Given the description of an element on the screen output the (x, y) to click on. 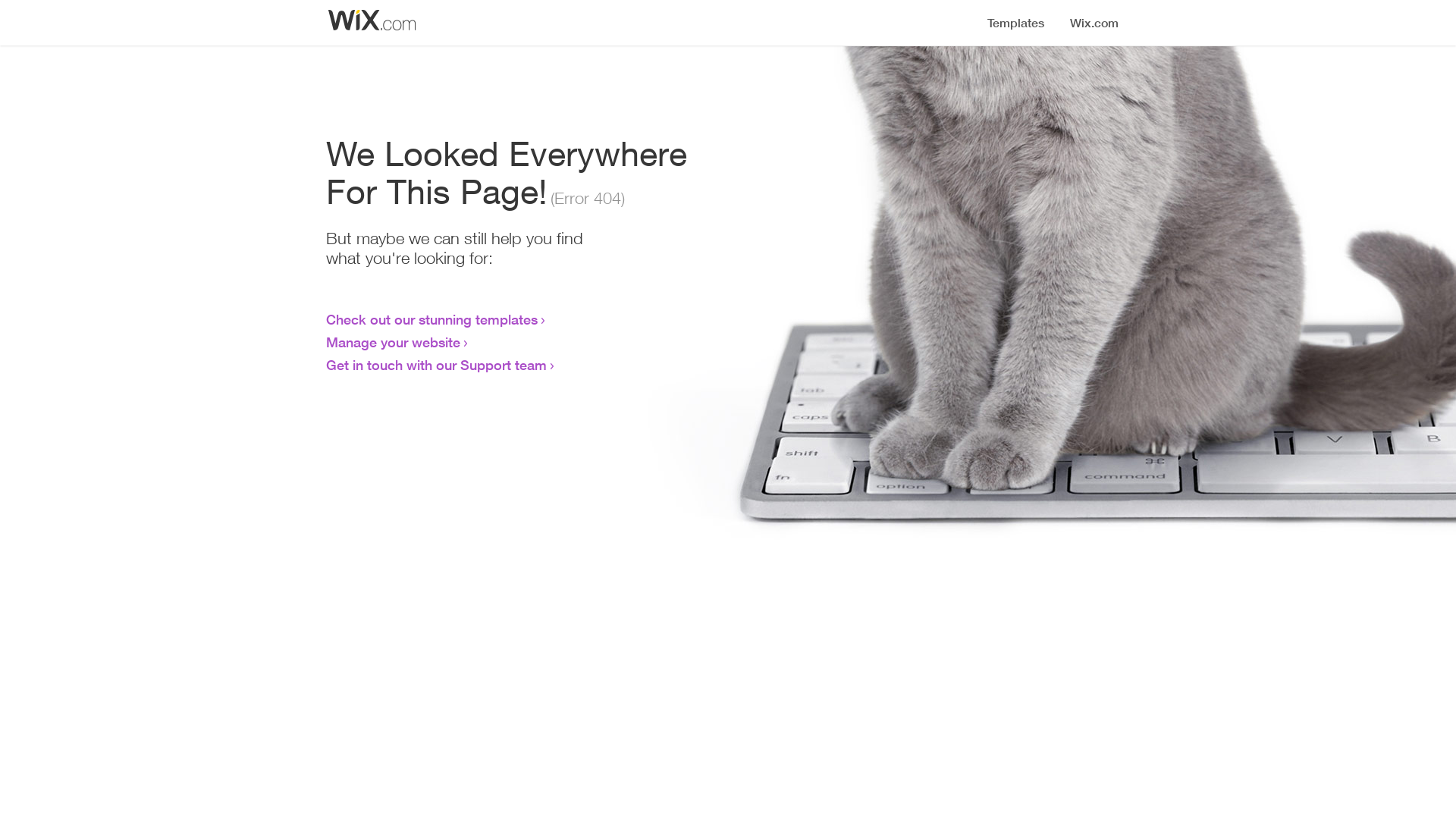
Manage your website Element type: text (393, 341)
Get in touch with our Support team Element type: text (436, 364)
Check out our stunning templates Element type: text (431, 318)
